Given the description of an element on the screen output the (x, y) to click on. 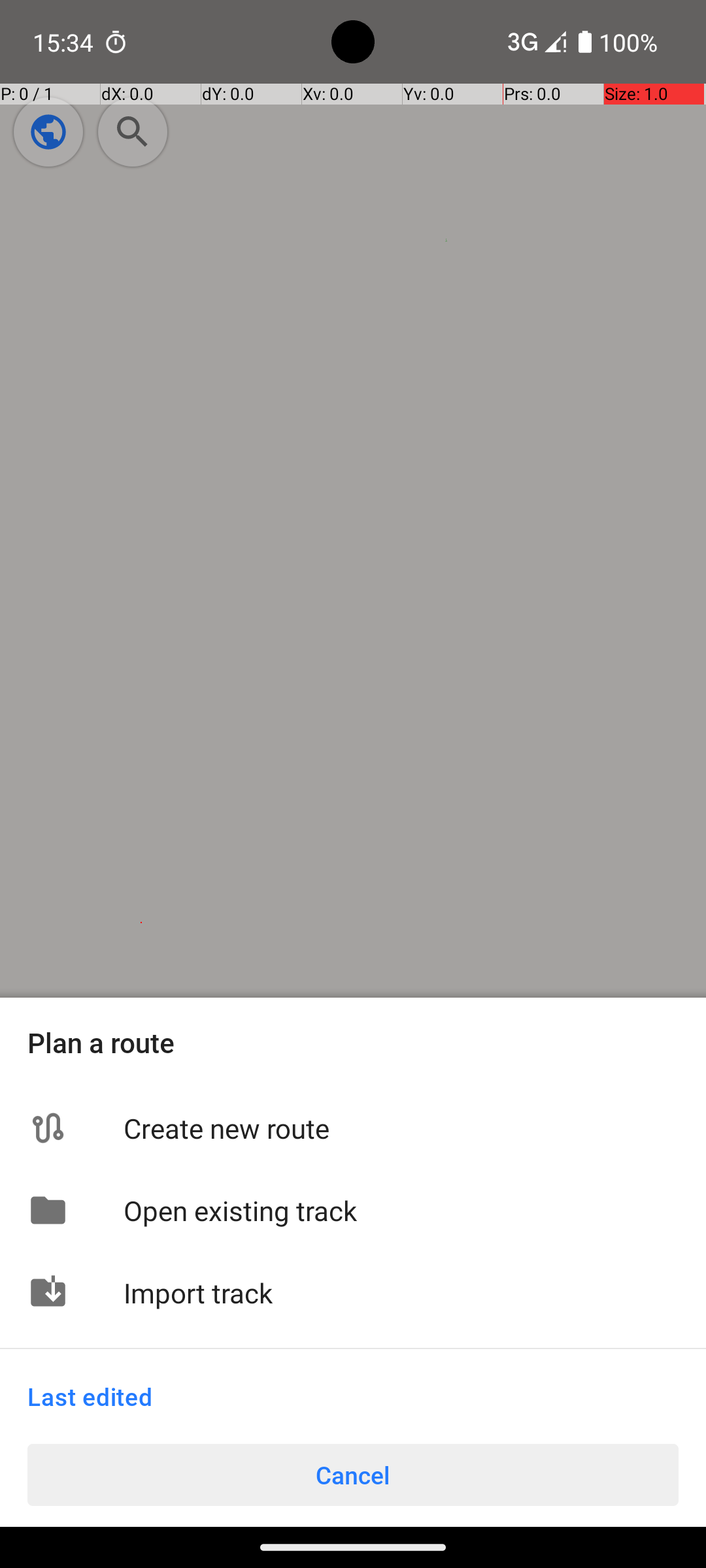
Close the dialog Element type: android.view.View (353, 527)
Plan a route Element type: android.widget.TextView (353, 1042)
Last edited Element type: android.widget.TextView (89, 1396)
Create new route Element type: android.widget.TextView (400, 1127)
Open existing track Element type: android.widget.TextView (400, 1209)
Import track Element type: android.widget.TextView (400, 1292)
